Given the description of an element on the screen output the (x, y) to click on. 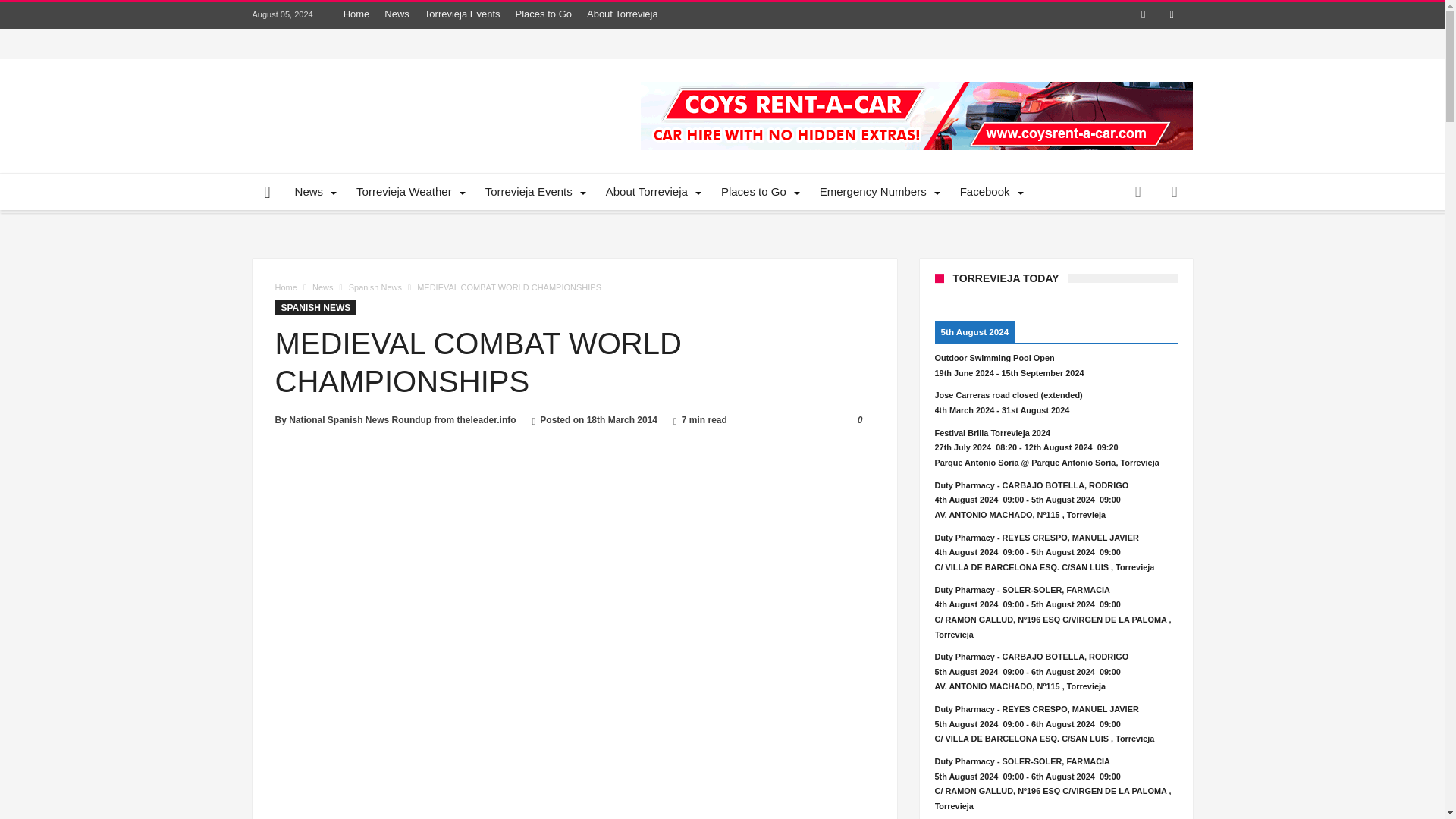
Torrevieja Events (462, 14)
About Torrevieja (622, 14)
Torrevieja Events (533, 191)
Costa Blanca Car Hire (916, 115)
News (396, 14)
News (313, 191)
Home (356, 14)
Torrevieja News (313, 191)
Places to Go (543, 14)
Torrevieja weather forecast and live map (408, 191)
Torrevieja Weather (408, 191)
Facebook (1143, 15)
About Torrevieja (651, 191)
Twitter (1170, 15)
